Given the description of an element on the screen output the (x, y) to click on. 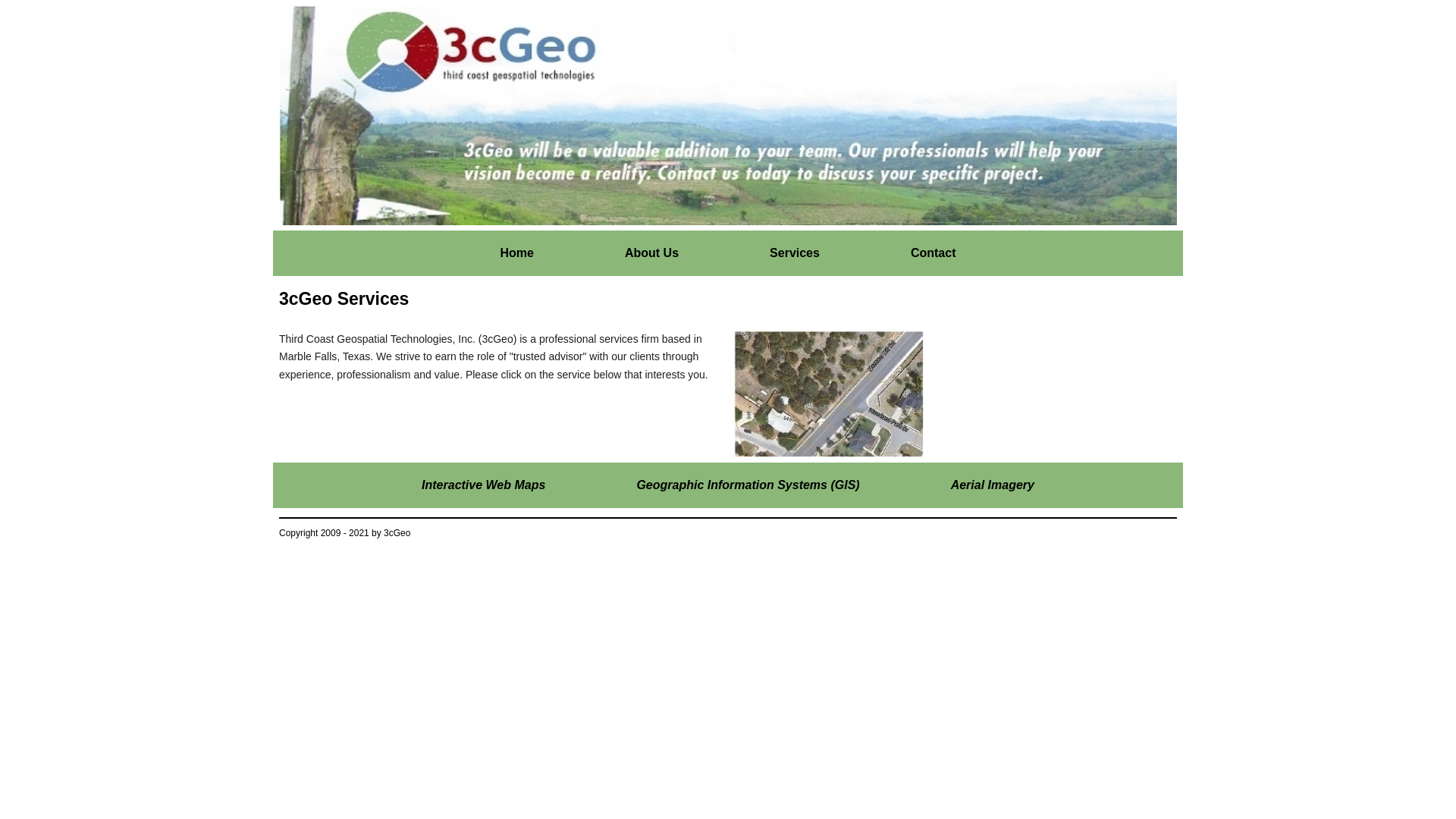
Interactive Web Maps Element type: text (483, 484)
Contact Element type: text (933, 252)
Services Element type: text (794, 252)
Aerial Imagery Element type: text (992, 484)
Home Element type: text (517, 252)
About Us Element type: text (651, 252)
Geographic Information Systems (GIS) Element type: text (747, 484)
